Given the description of an element on the screen output the (x, y) to click on. 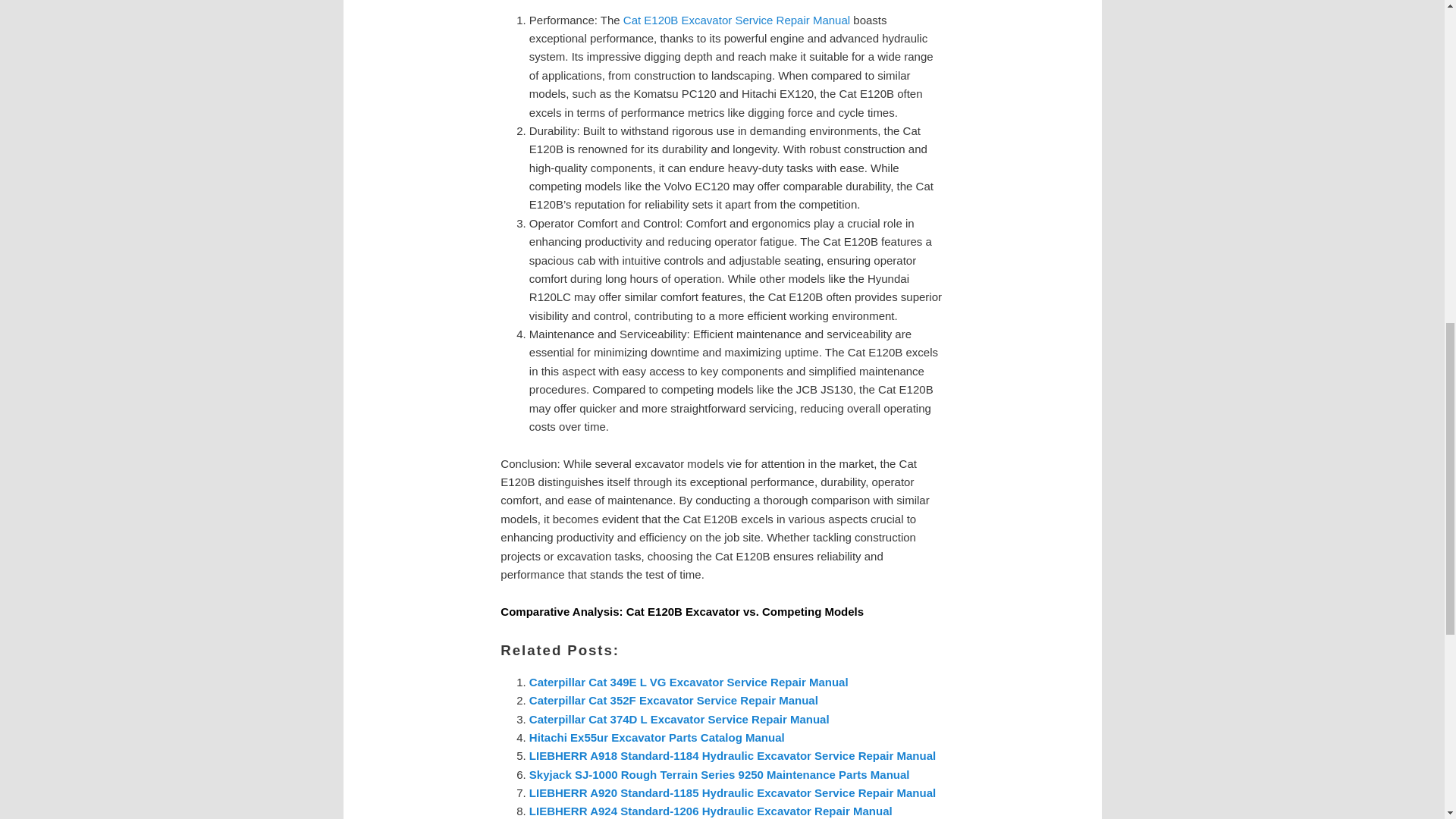
Caterpillar Cat 349E L VG Excavator Service Repair Manual (688, 681)
Hitachi Ex55ur Excavator Parts Catalog Manual (656, 737)
Caterpillar Cat 349E L VG Excavator Service Repair Manual (688, 681)
Caterpillar Cat 374D L Excavator Service Repair Manual (679, 718)
Hitachi Ex55ur Excavator Parts Catalog Manual (656, 737)
Caterpillar Cat 352F Excavator Service Repair Manual (673, 699)
